Given the description of an element on the screen output the (x, y) to click on. 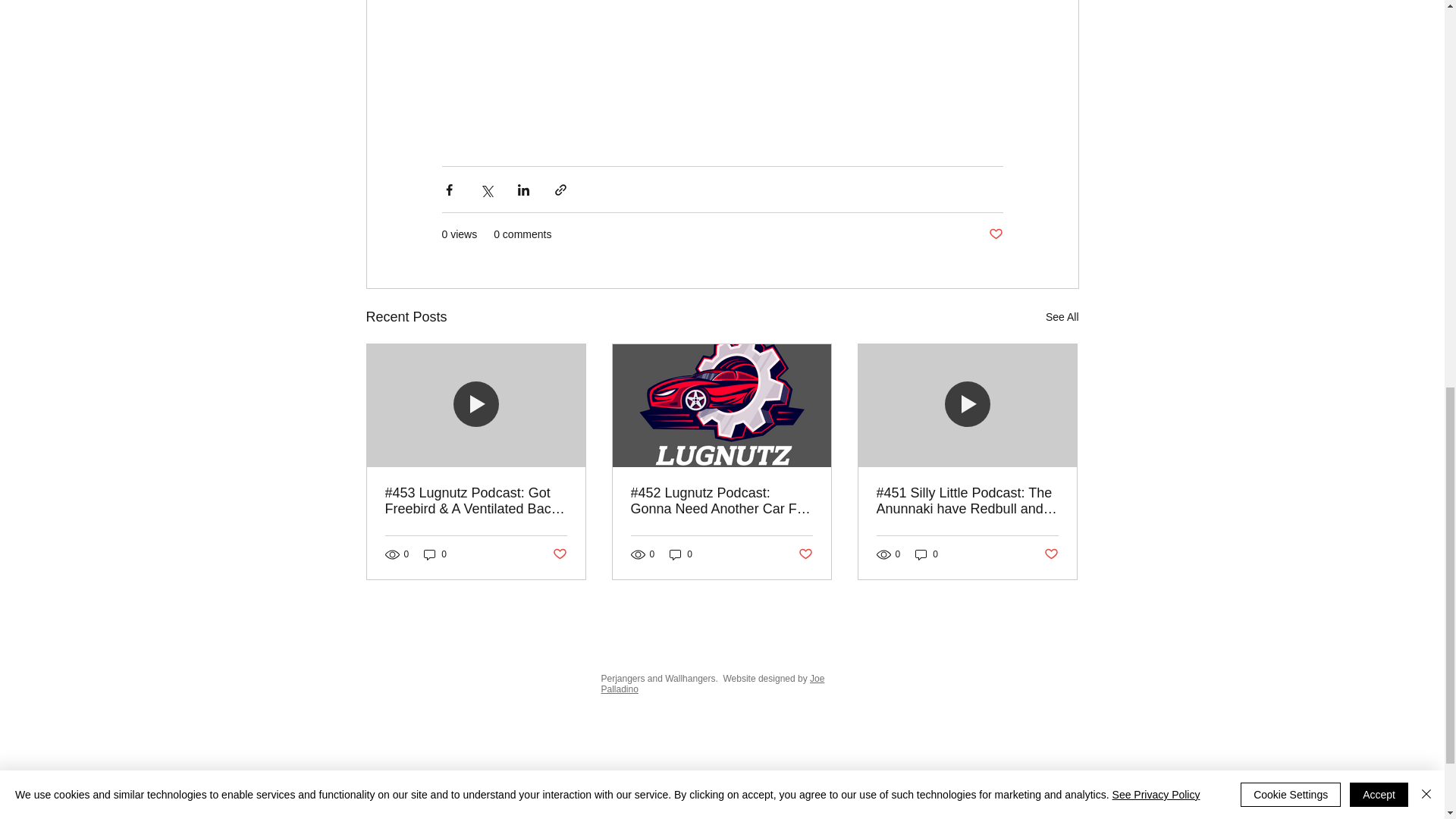
Post not marked as liked (558, 554)
Post not marked as liked (804, 554)
0 (926, 554)
Post not marked as liked (1050, 554)
Post not marked as liked (995, 234)
Joe Palladino (711, 683)
0 (681, 554)
0 (435, 554)
See All (1061, 317)
